Given the description of an element on the screen output the (x, y) to click on. 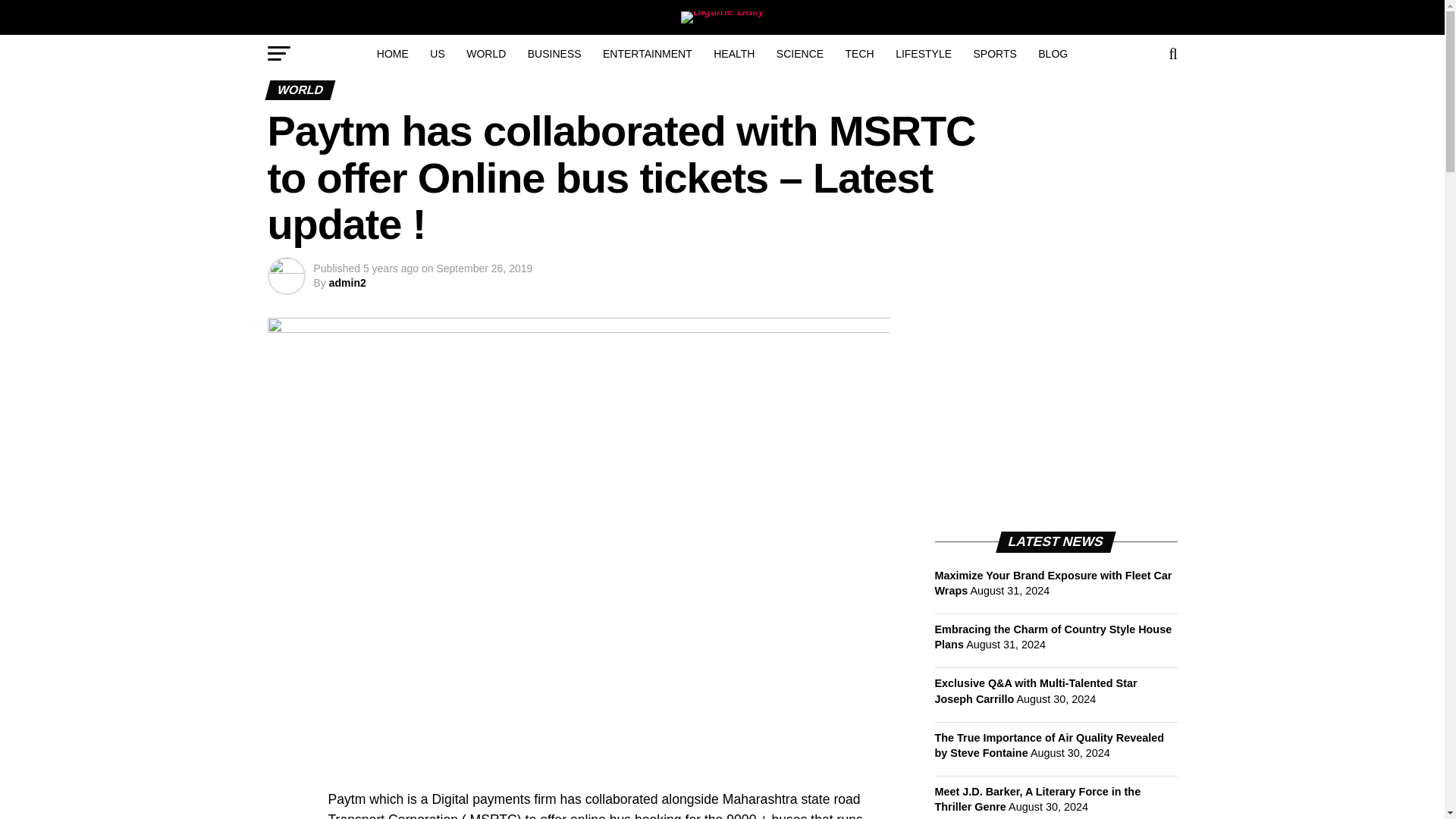
BUSINESS (554, 53)
LIFESTYLE (923, 53)
HOME (392, 53)
SPORTS (994, 53)
WORLD (486, 53)
HEALTH (733, 53)
Posts by admin2 (347, 282)
TECH (859, 53)
BLOG (1053, 53)
admin2 (347, 282)
